Given the description of an element on the screen output the (x, y) to click on. 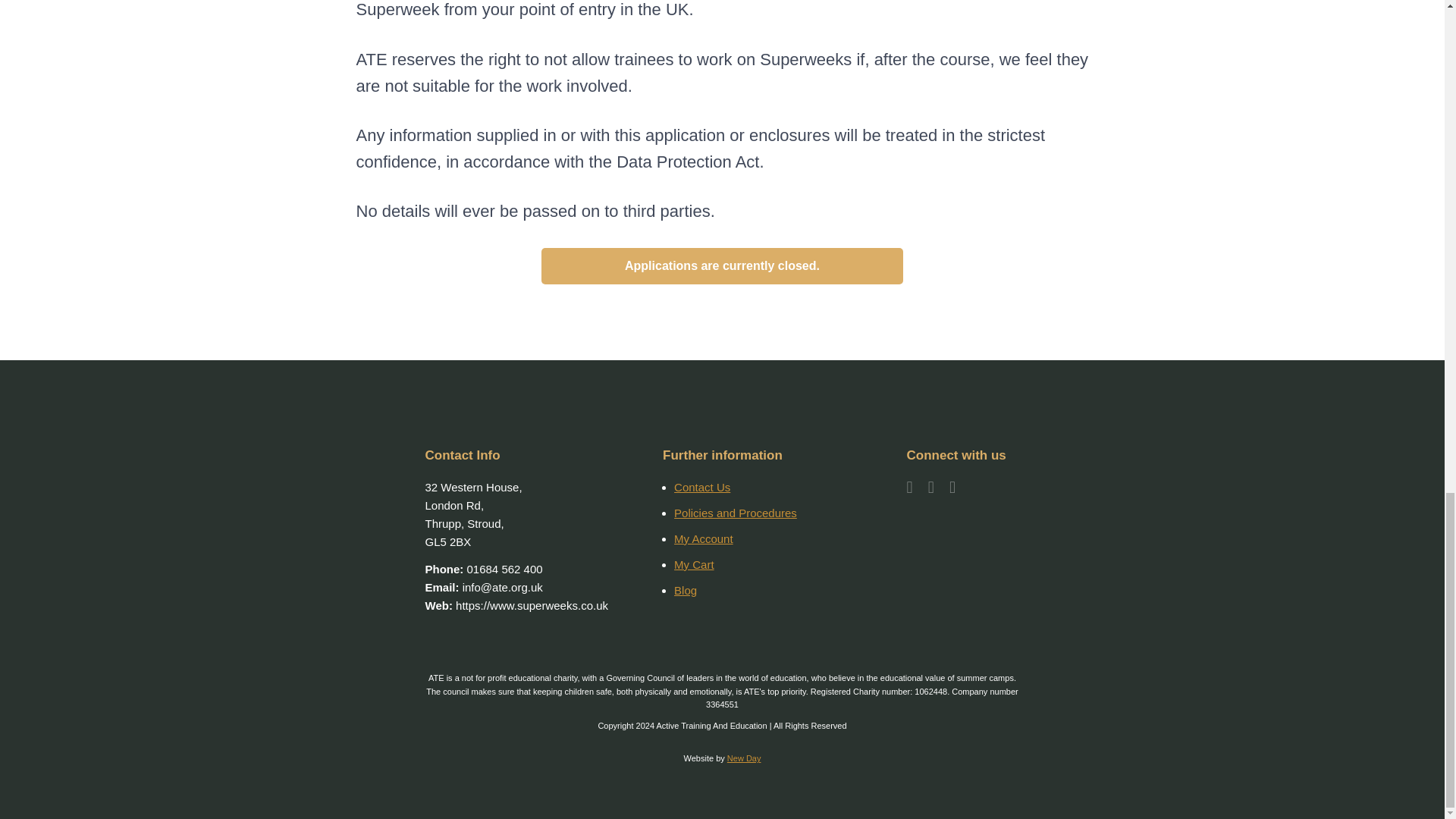
Contact Us (702, 486)
Applications are currently closed. (722, 266)
New Day (743, 757)
My Account (703, 538)
My Cart (694, 563)
Phone: 01684 562 400 (483, 568)
Blog (685, 590)
Policies and Procedures (735, 512)
